Given the description of an element on the screen output the (x, y) to click on. 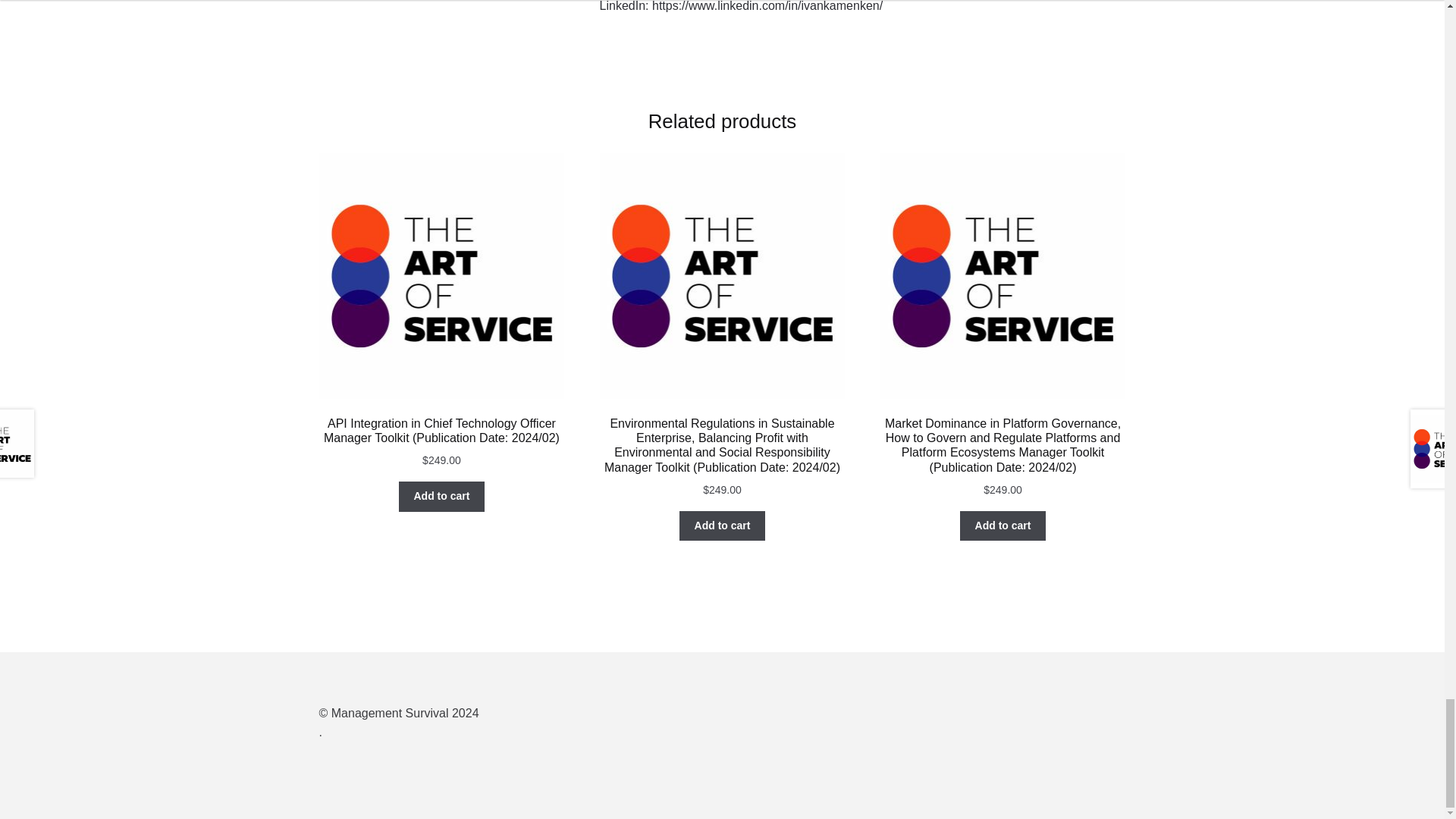
Add to cart (441, 496)
Add to cart (722, 526)
Add to cart (1002, 526)
